Given the description of an element on the screen output the (x, y) to click on. 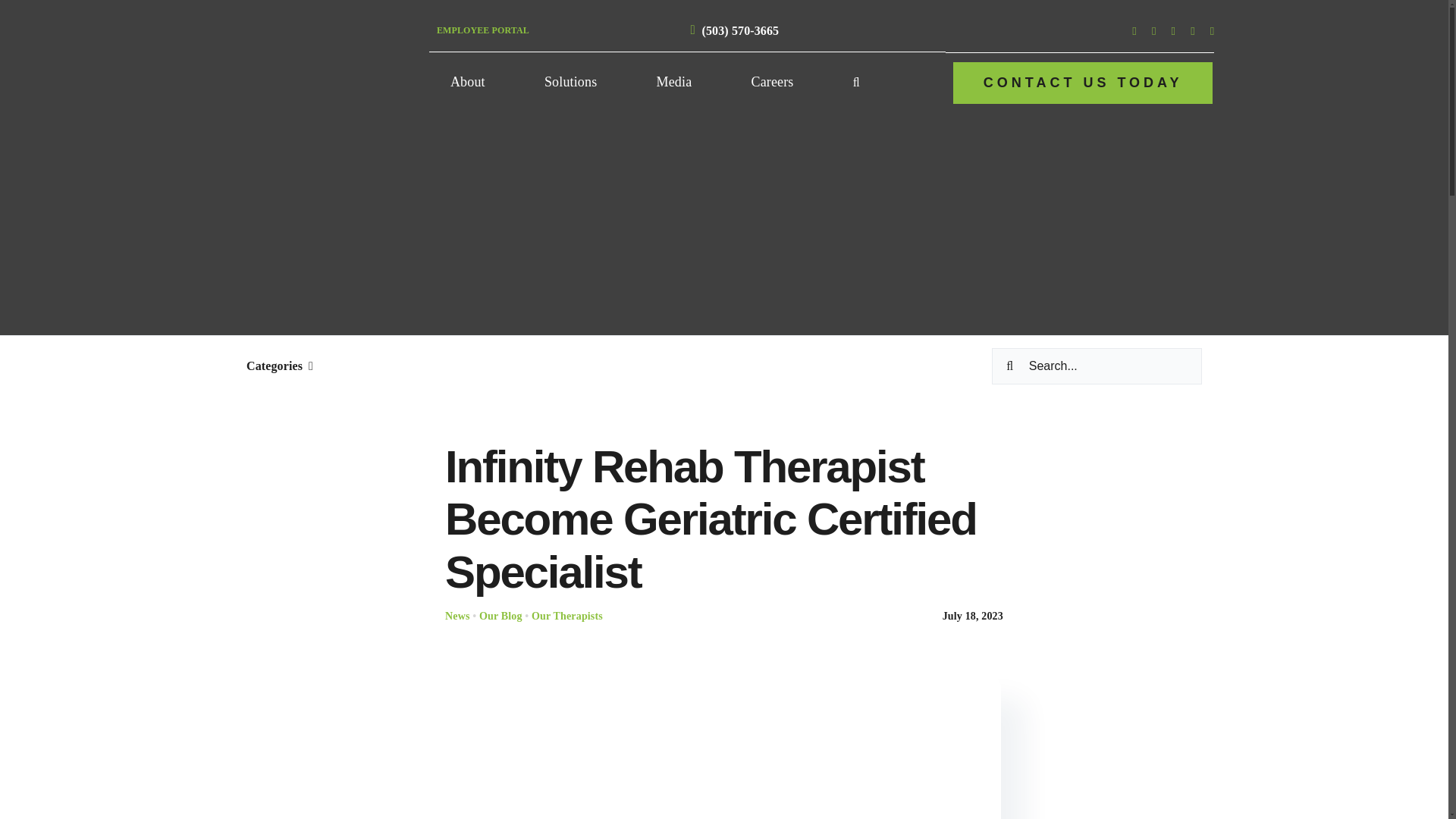
Careers (773, 83)
EMPLOYEE PORTAL (483, 30)
News (457, 615)
Solutions (570, 83)
Media (674, 83)
Our Therapists (566, 615)
About (467, 83)
Our Blog (500, 615)
